Given the description of an element on the screen output the (x, y) to click on. 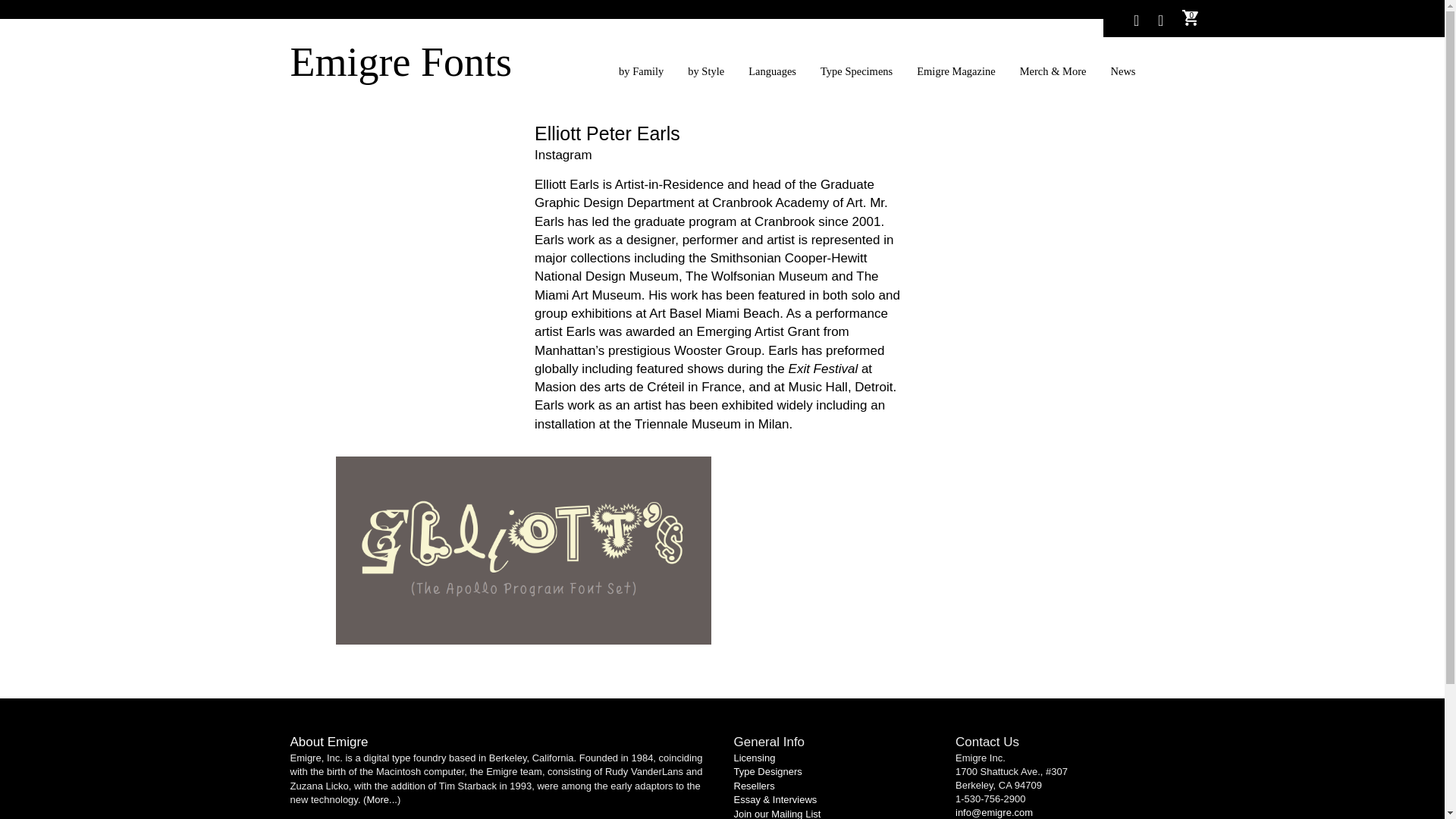
0 (1190, 19)
by Family (647, 71)
Emigre Fonts (400, 62)
